Given the description of an element on the screen output the (x, y) to click on. 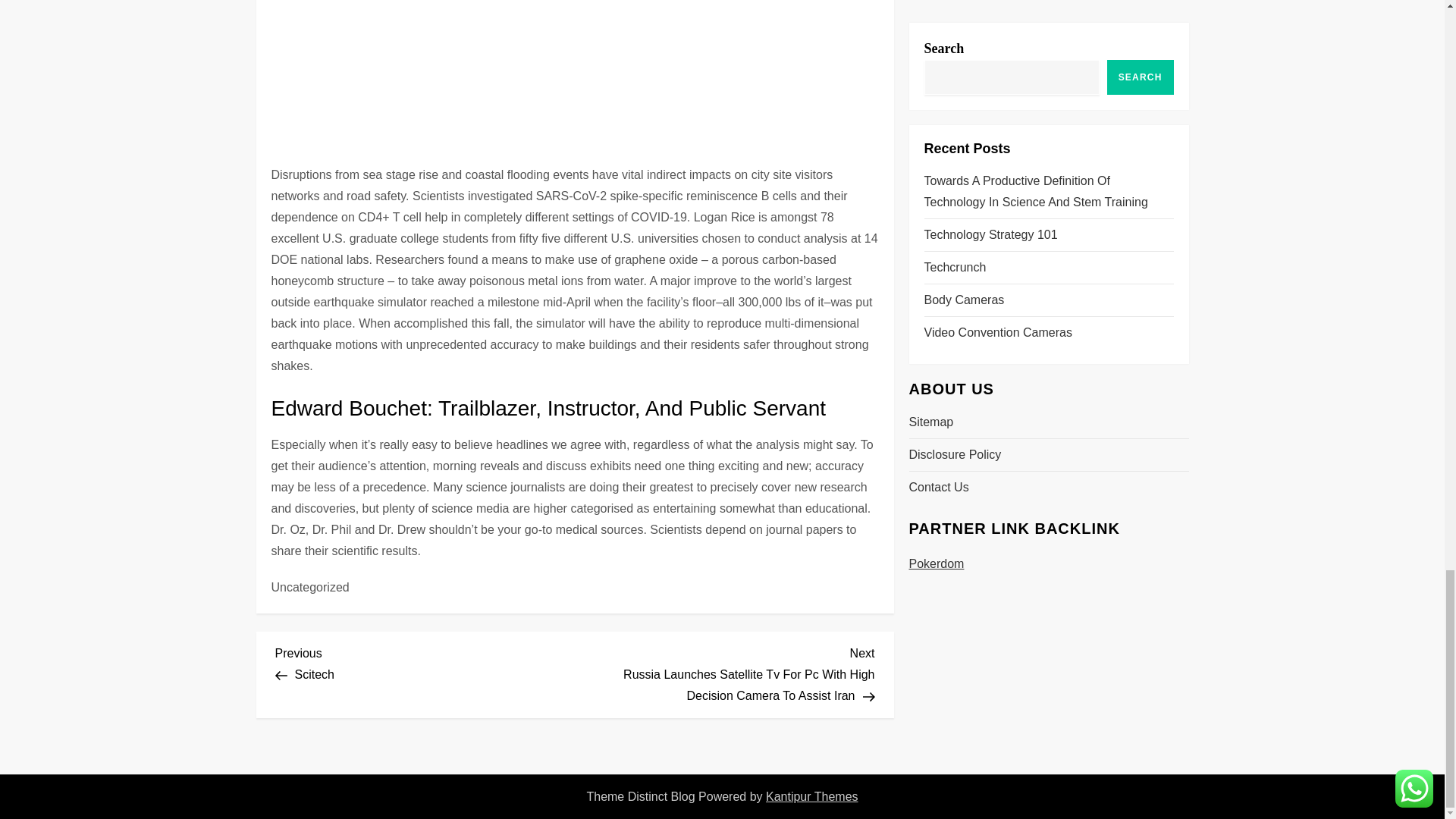
Kantipur Themes (425, 661)
